Given the description of an element on the screen output the (x, y) to click on. 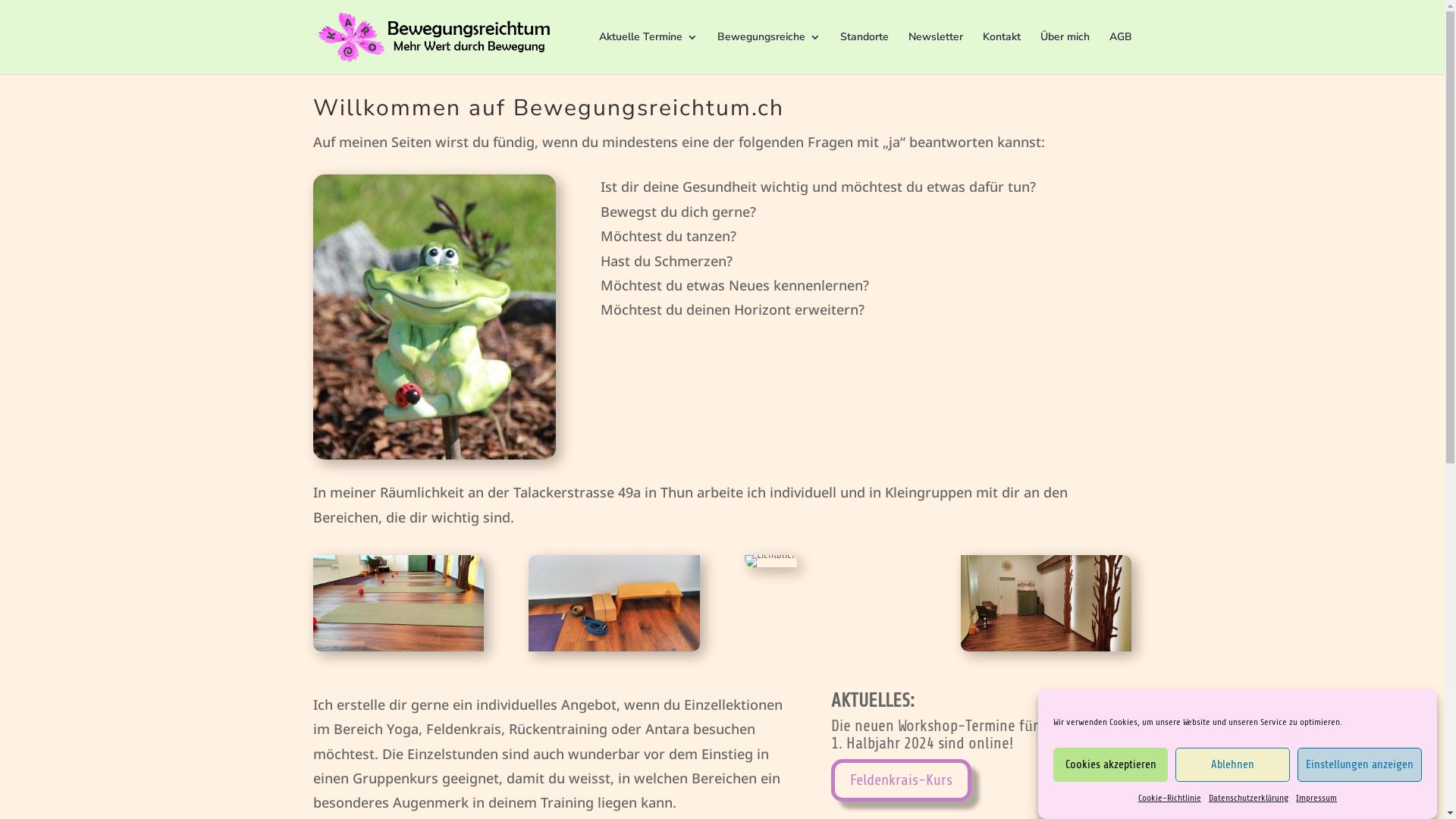
Impressum Element type: text (1315, 798)
Einstellungen anzeigen Element type: text (1359, 764)
Entspannt wie ein Frosch Element type: hover (433, 316)
Cookies akzeptieren Element type: text (1110, 764)
AGB Element type: text (1119, 52)
Hilfsmittel Element type: hover (613, 603)
Bewegungsreiche Element type: text (768, 52)
Cookie-Richtlinie Element type: text (1169, 798)
Aussenansicht Element type: hover (770, 561)
Praxisraum Element type: hover (397, 603)
Feldenkrais-Kurs Element type: text (901, 780)
Newsletter Element type: text (935, 52)
Aktuelle Termine Element type: text (648, 52)
Kontakt Element type: text (1001, 52)
Ablehnen Element type: text (1232, 764)
Standorte Element type: text (864, 52)
